Given the description of an element on the screen output the (x, y) to click on. 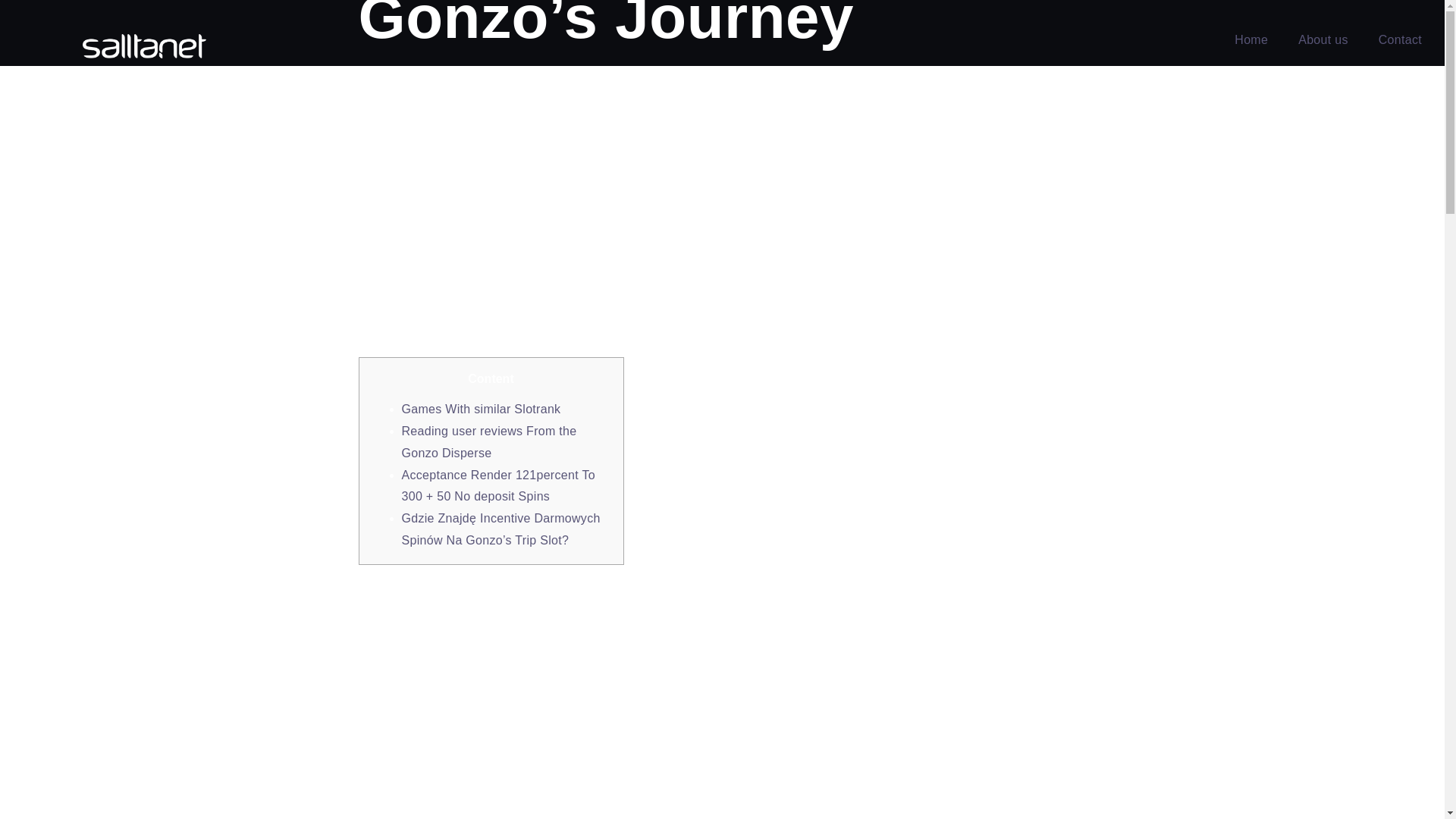
Contact (1399, 39)
Reading user reviews From the Gonzo Disperse (488, 442)
Games With similar Slotrank (480, 408)
About us (1322, 39)
Home (1251, 39)
